Given the description of an element on the screen output the (x, y) to click on. 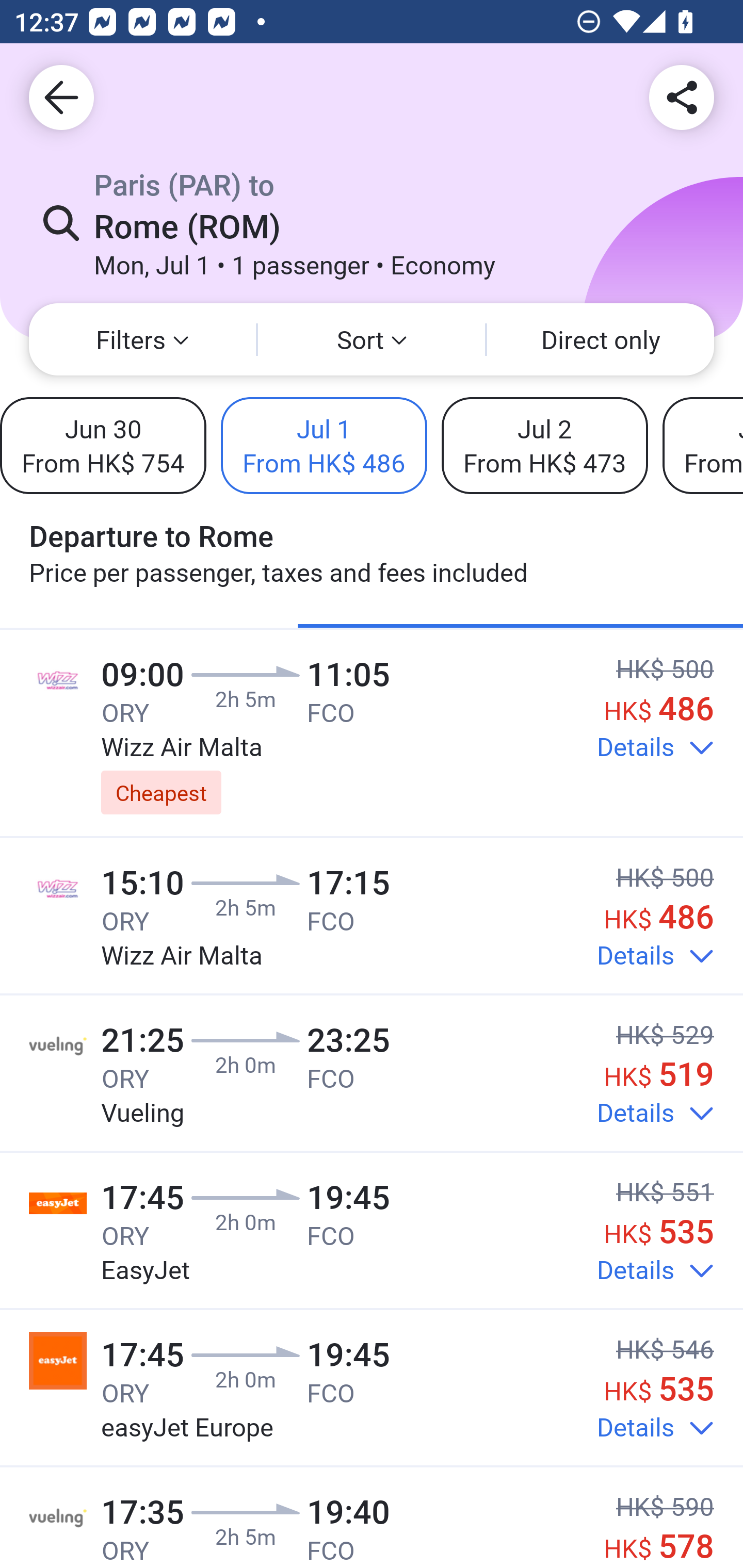
Filters (141, 339)
Sort (371, 339)
Direct only (600, 339)
Jun 30 From HK$ 754 (103, 444)
Jul 1 From HK$ 486 (323, 444)
Jul 2 From HK$ 473 (544, 444)
